Given the description of an element on the screen output the (x, y) to click on. 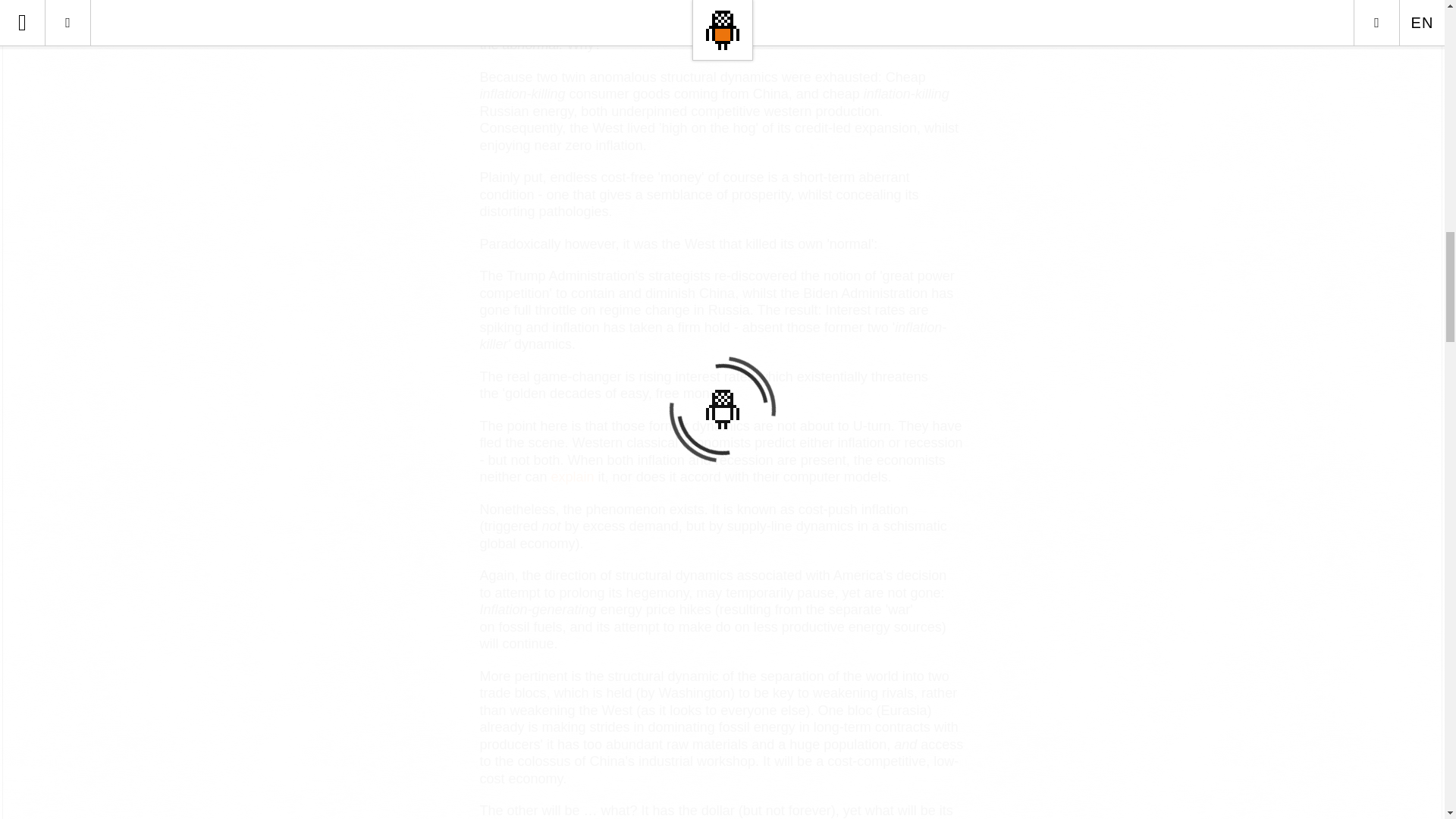
explain (572, 476)
